Given the description of an element on the screen output the (x, y) to click on. 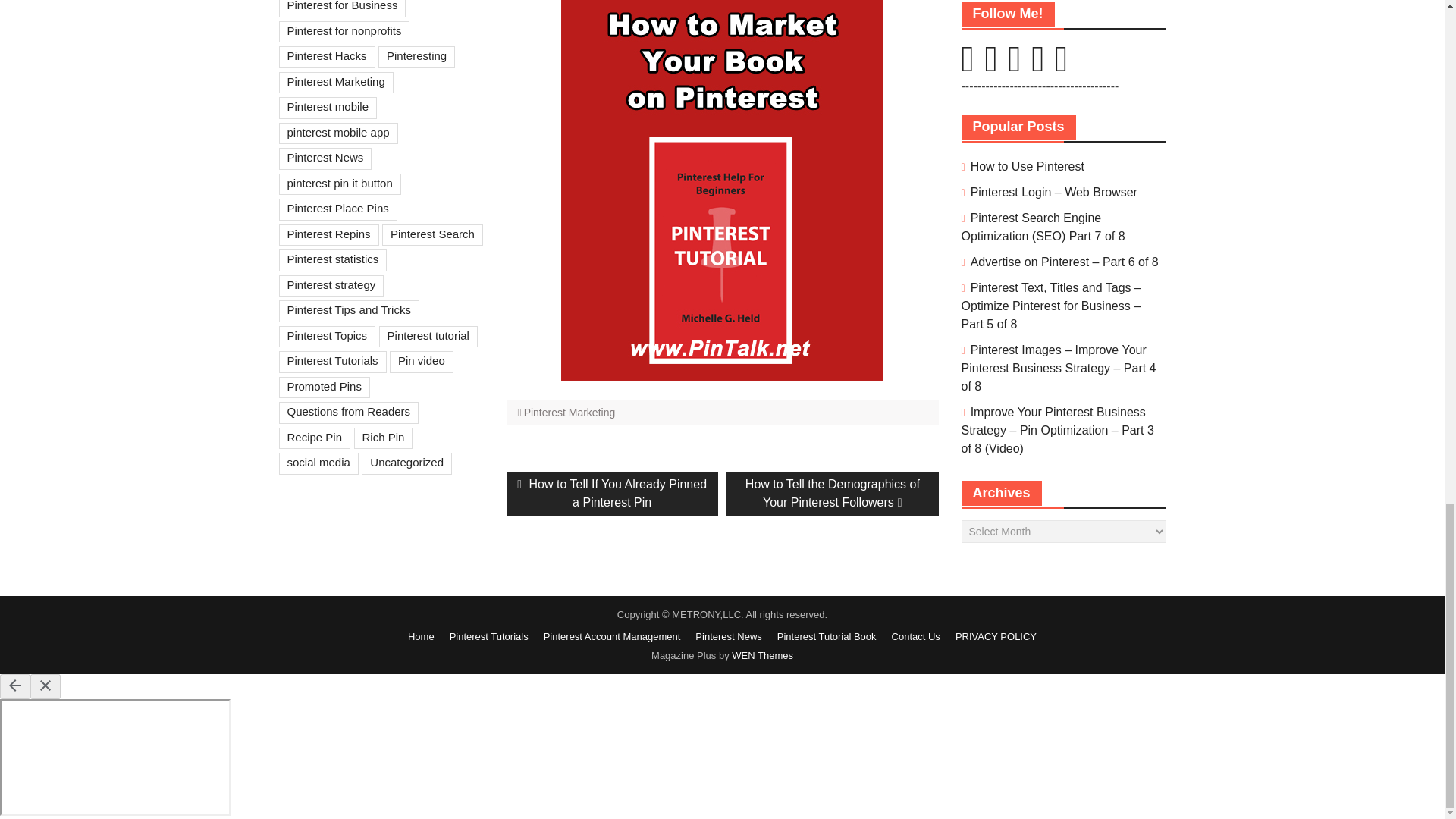
PinTalk Pinterest (967, 66)
PinTalk LinkedIn (1014, 66)
Pinterest Marketing (569, 412)
Instagram (990, 66)
